Given the description of an element on the screen output the (x, y) to click on. 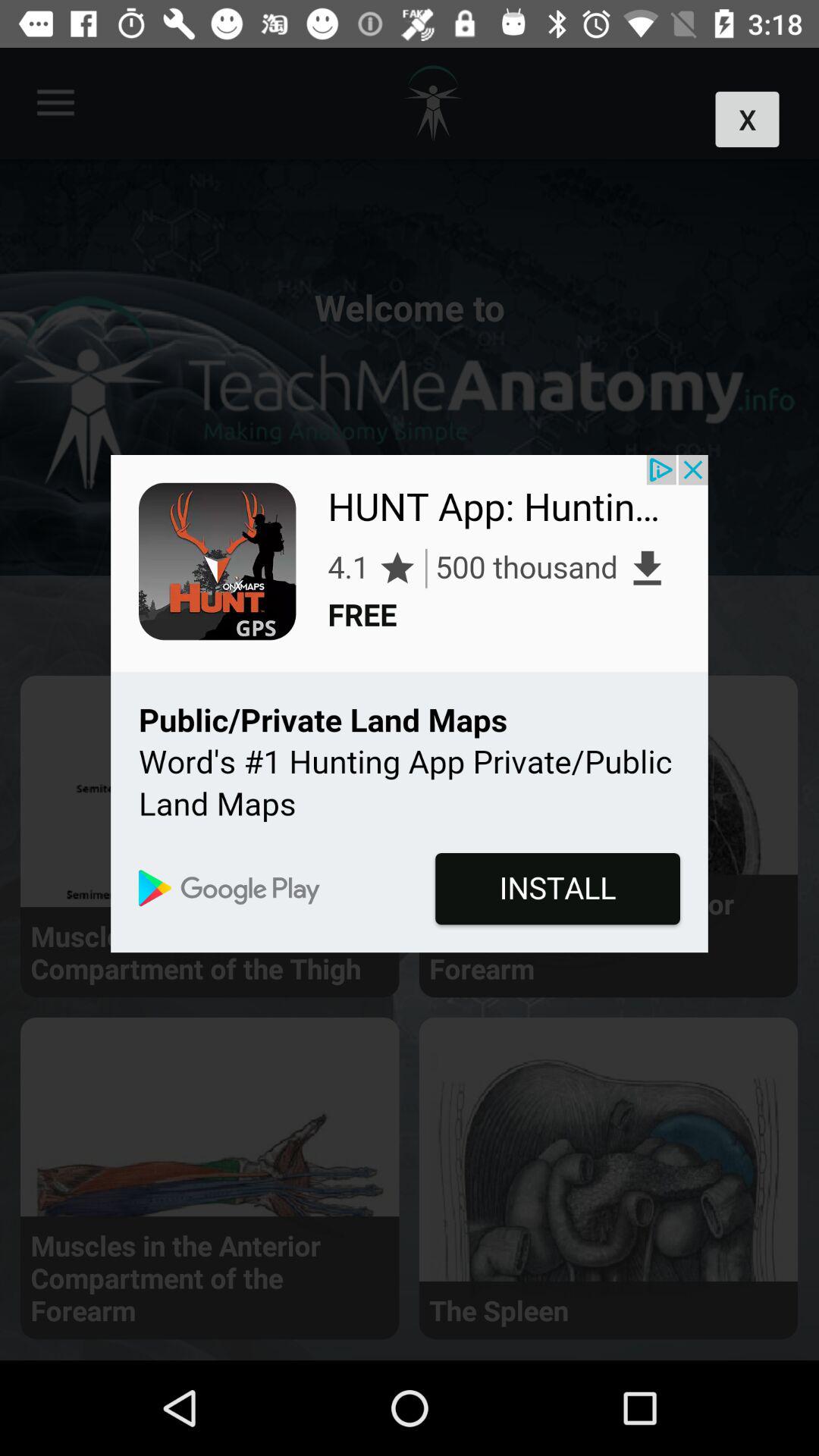
install app (409, 703)
